Given the description of an element on the screen output the (x, y) to click on. 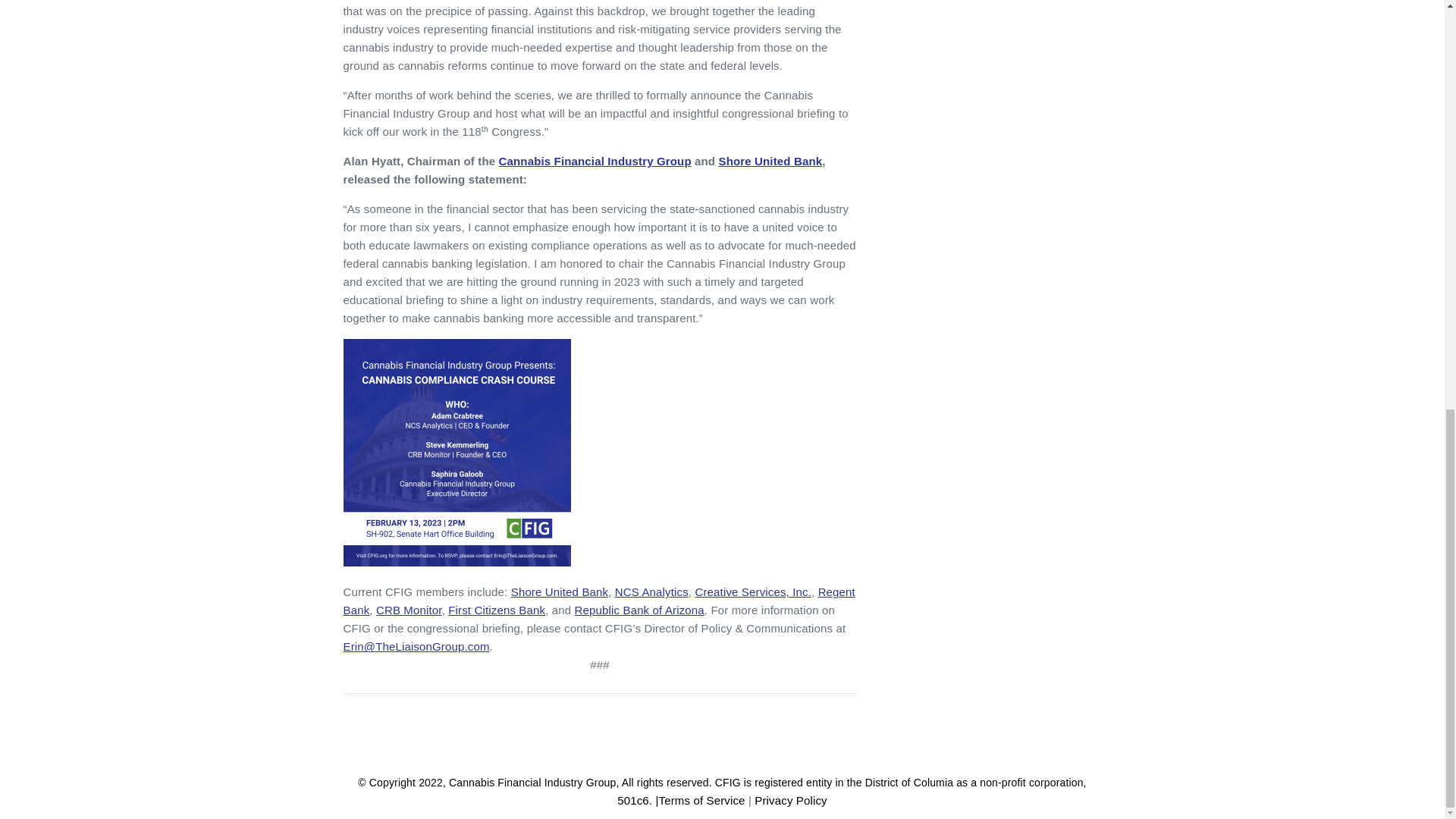
Creative Services, Inc. (752, 591)
Cannabis Financial Industry Group (595, 160)
Page 2 (599, 619)
Shore United Bank (769, 160)
Shore United Bank (559, 591)
Regent Bank (598, 600)
Republic Bank of Arizona (639, 609)
CRB Monitor (408, 609)
NCS Analytics (651, 591)
First Citizens Bank (496, 609)
